Given the description of an element on the screen output the (x, y) to click on. 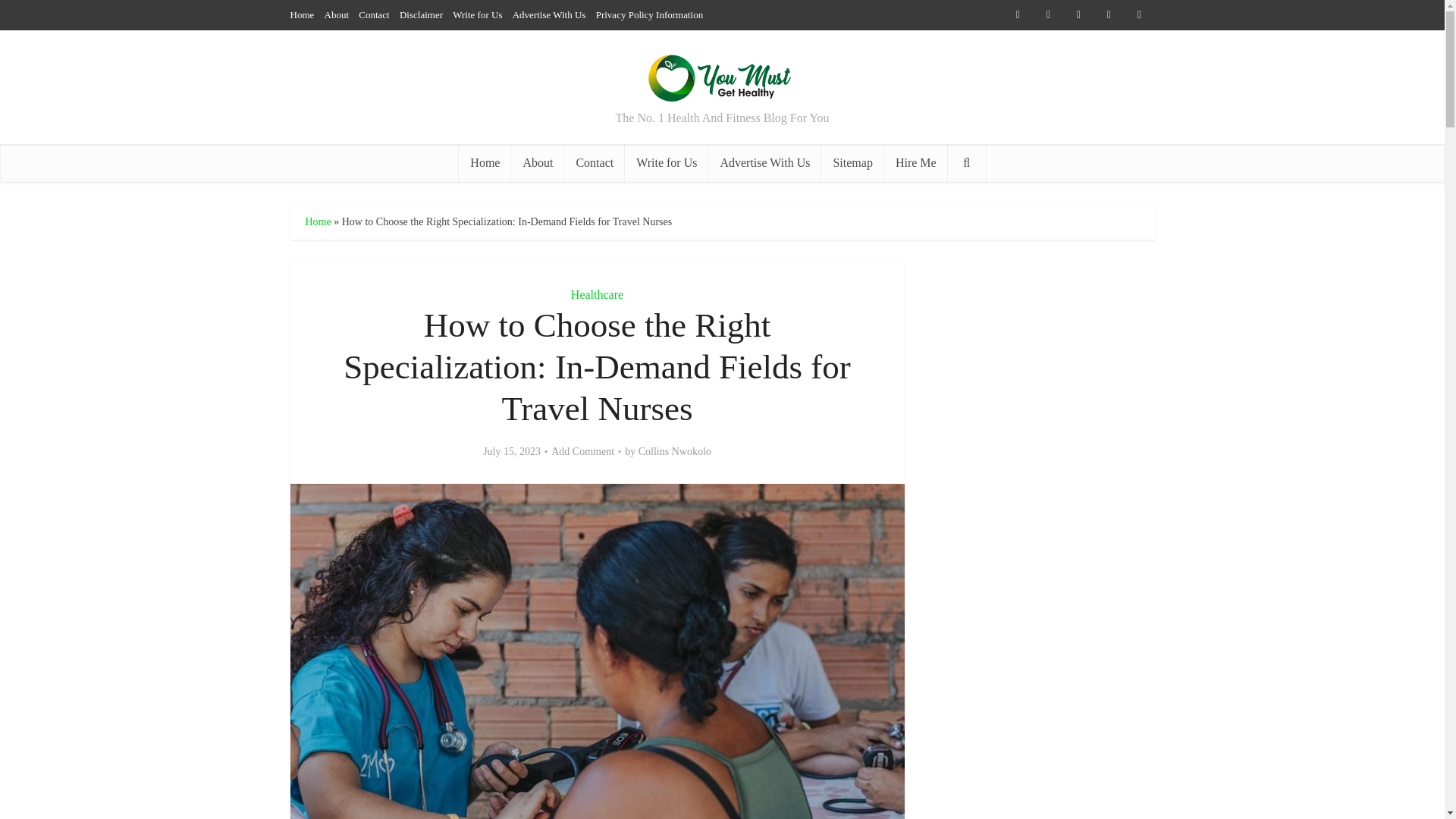
Home (301, 14)
Hire Me (915, 162)
Contact (594, 162)
Advertise With Us (764, 162)
Contact (373, 14)
About (537, 162)
Write for Us (477, 14)
Advertise With Us (549, 14)
Sitemap (852, 162)
You Must Get Healthy (721, 73)
Write for Us (665, 162)
Add Comment (582, 451)
Home (484, 162)
Healthcare (596, 294)
Home (317, 221)
